Given the description of an element on the screen output the (x, y) to click on. 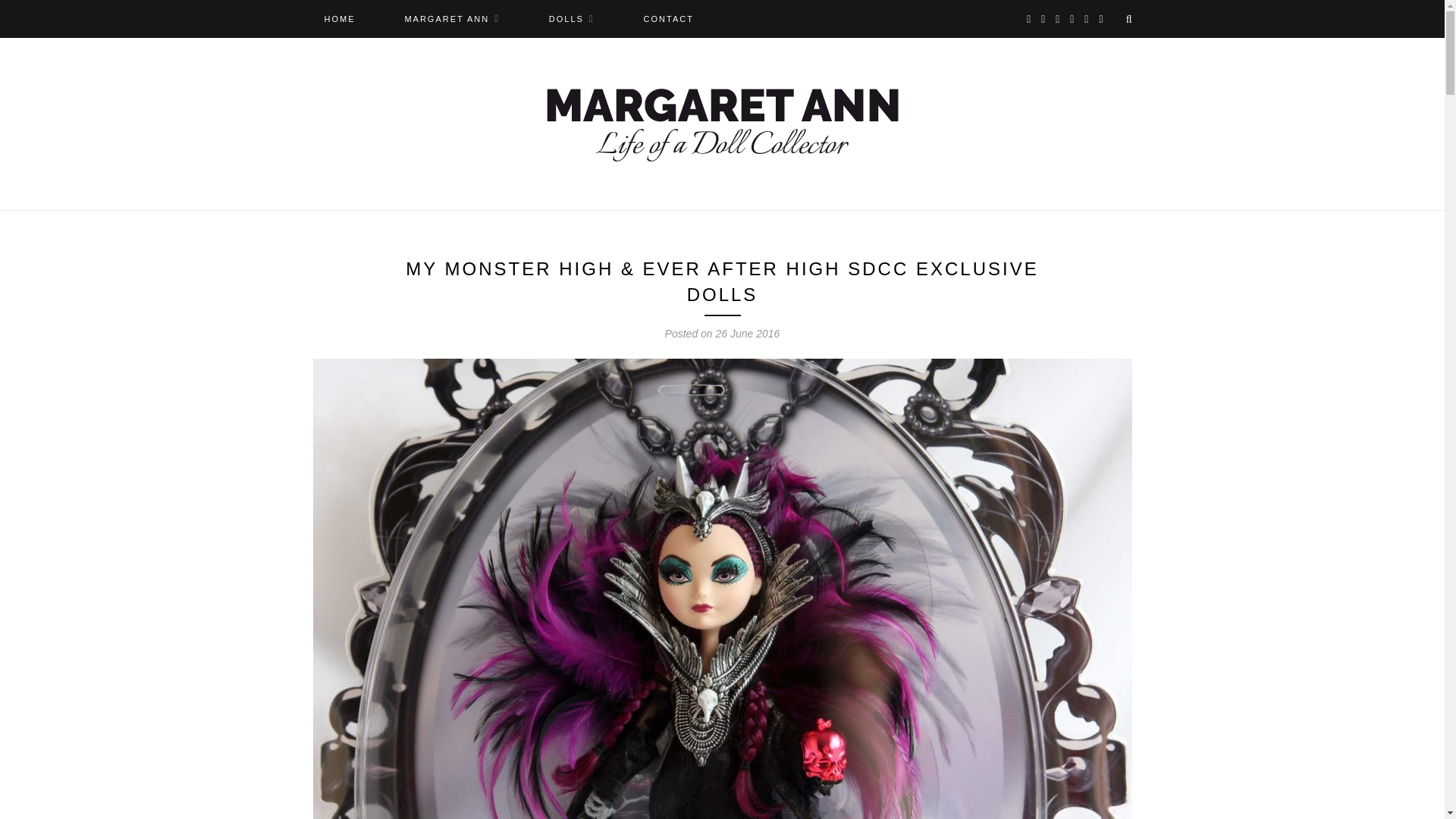
DOLLS (571, 18)
CONTACT (667, 18)
MARGARET ANN (452, 18)
HOME (339, 18)
